Given the description of an element on the screen output the (x, y) to click on. 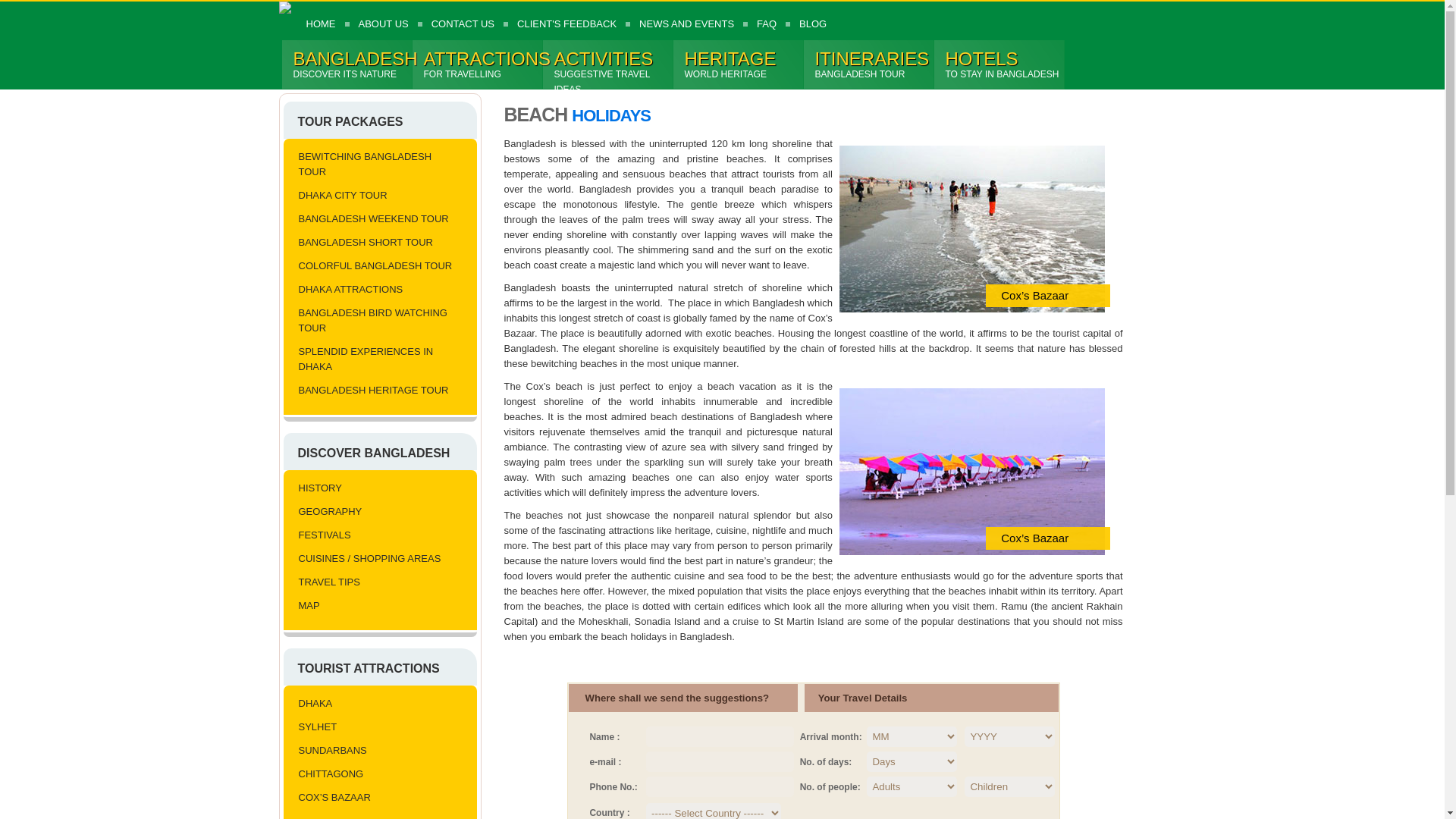
GEOGRAPHY (375, 511)
SPLENDID EXPERIENCES IN DHAKA (375, 359)
FESTIVALS (375, 535)
SYLHET (347, 64)
TOURIST ATTRACTIONS (375, 726)
DHAKA ATTRACTIONS (868, 64)
BANGLADESH SHORT TOUR (477, 64)
